Given the description of an element on the screen output the (x, y) to click on. 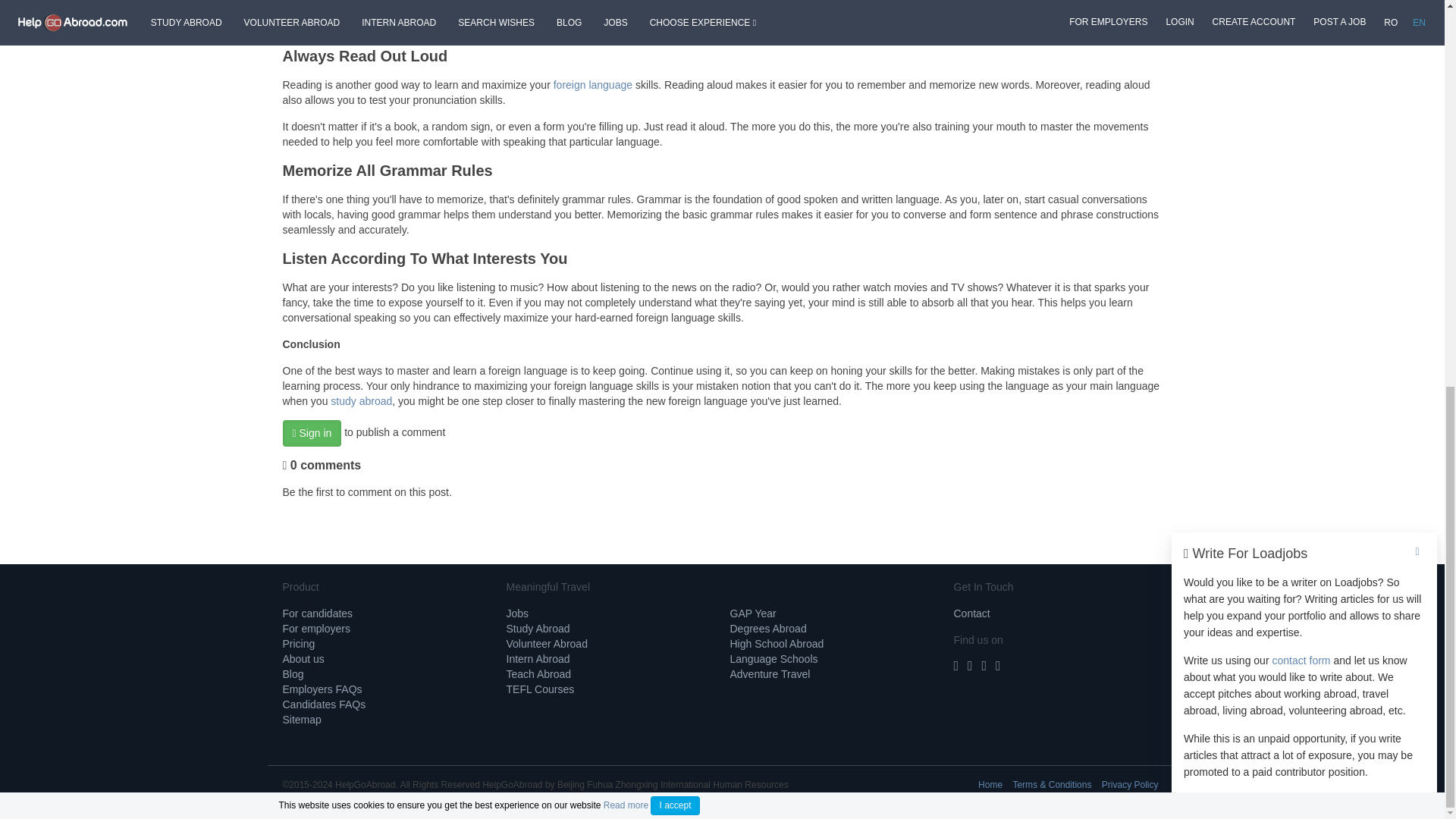
HelpGoAbroad for Employers (315, 628)
Teach Abroad (539, 674)
Volunteer Abroad Programs (547, 644)
Search Jobs (517, 613)
Sitemap (301, 719)
HelpGoAbroad for Candidates (317, 613)
About HelpGoAbroad (302, 658)
Internships Abroad (538, 658)
Employers FAQs (321, 689)
HelpGoAbroad Pricing (298, 644)
Study Abroad Programs (538, 628)
Candidates FAQs (323, 704)
Blog HelpGoAbroad (292, 674)
